Given the description of an element on the screen output the (x, y) to click on. 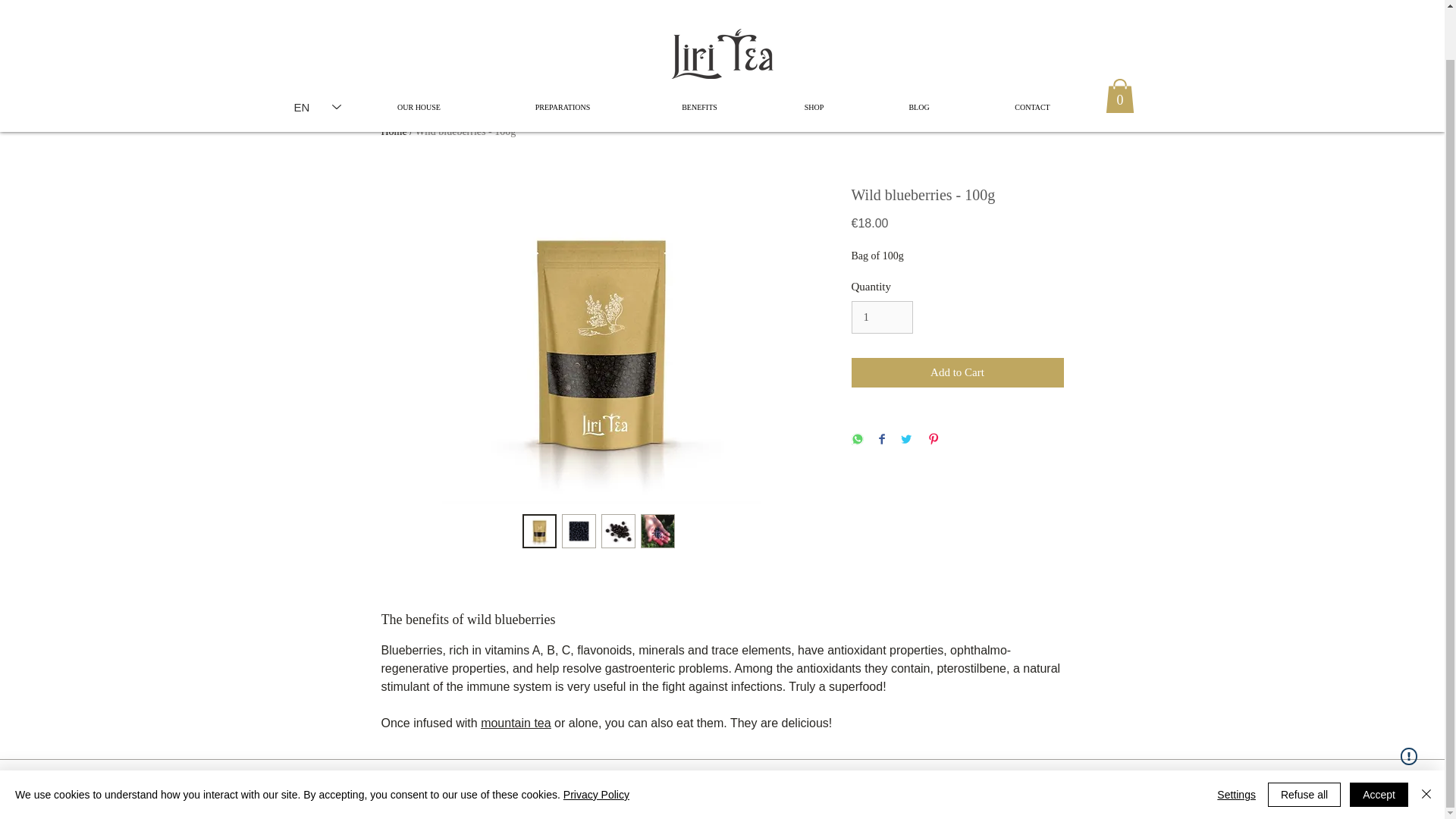
Legal Notice (1039, 777)
CONTACT (1032, 53)
OUR HOUSE (418, 53)
FAQ (1072, 777)
Privacy Policy (595, 741)
BENEFITS (700, 53)
PREPARATIONS (561, 53)
Refuse all (1304, 741)
Privacy Policy (922, 777)
Wild blueberries - 100g (464, 131)
1 (881, 317)
Accept (1378, 741)
Add to Cart (956, 372)
BLOG (919, 53)
Home (393, 131)
